Given the description of an element on the screen output the (x, y) to click on. 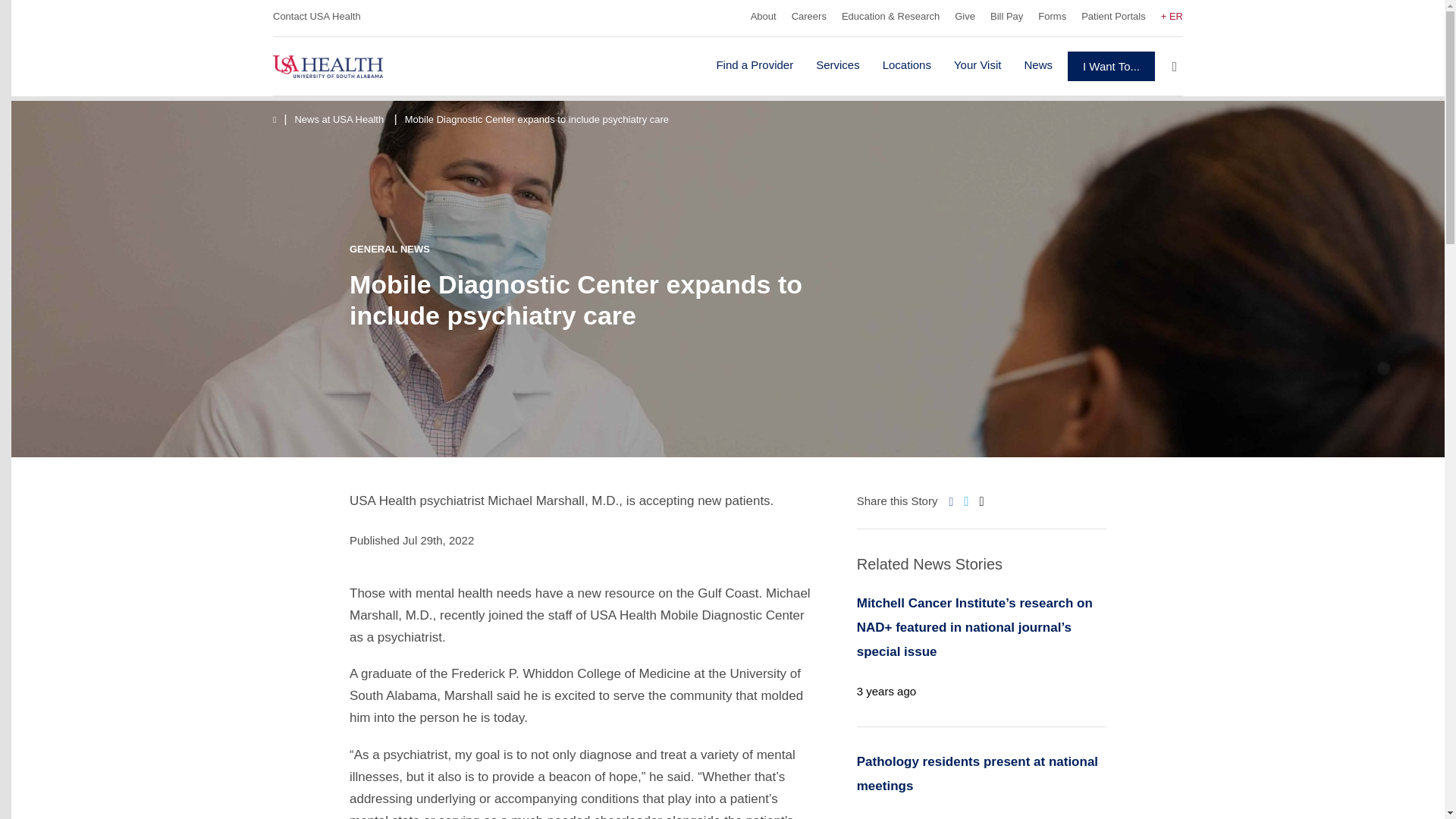
Contact USA Health (317, 16)
Link to homepage (349, 65)
Patient Portals (1113, 16)
Services (837, 66)
Search Button (1174, 65)
News (1038, 66)
Locations (906, 66)
Your Visit (978, 66)
Give (965, 16)
I Want To... (1110, 66)
Find a Provider (753, 66)
About (763, 16)
Bill Pay (1006, 16)
Forms (1051, 16)
Careers (809, 16)
